Given the description of an element on the screen output the (x, y) to click on. 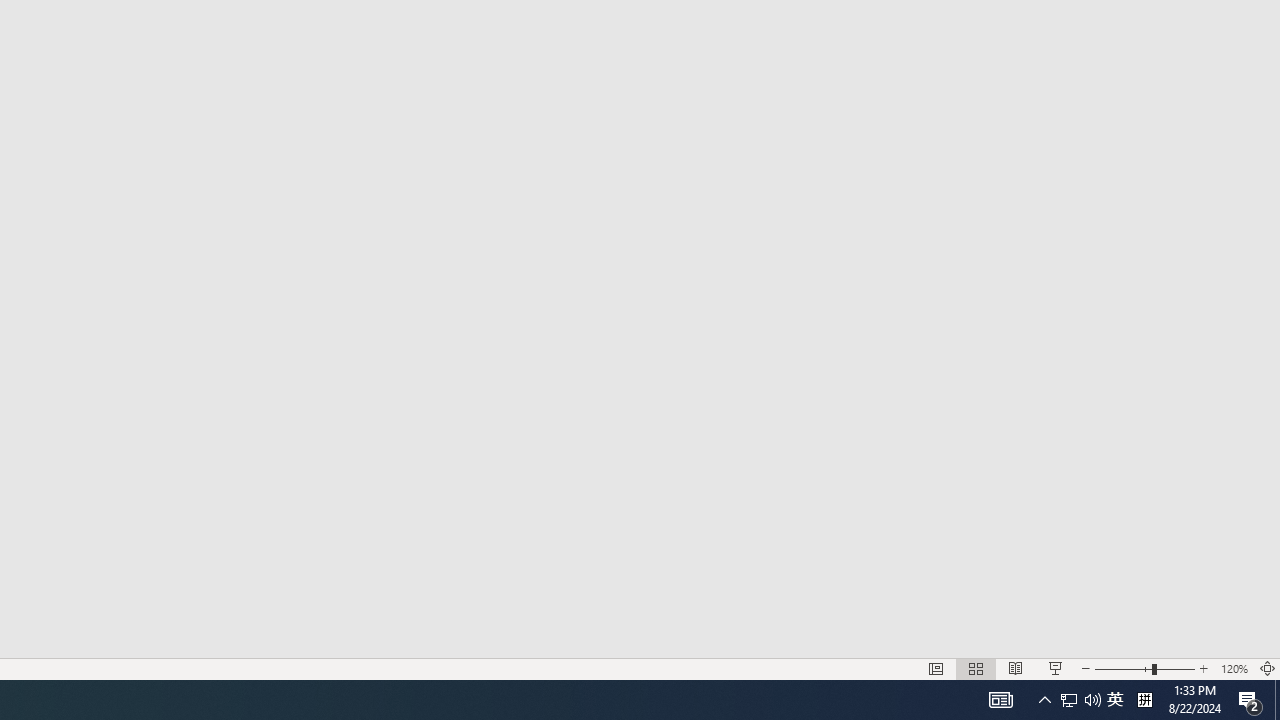
Zoom 120% (1234, 668)
